Given the description of an element on the screen output the (x, y) to click on. 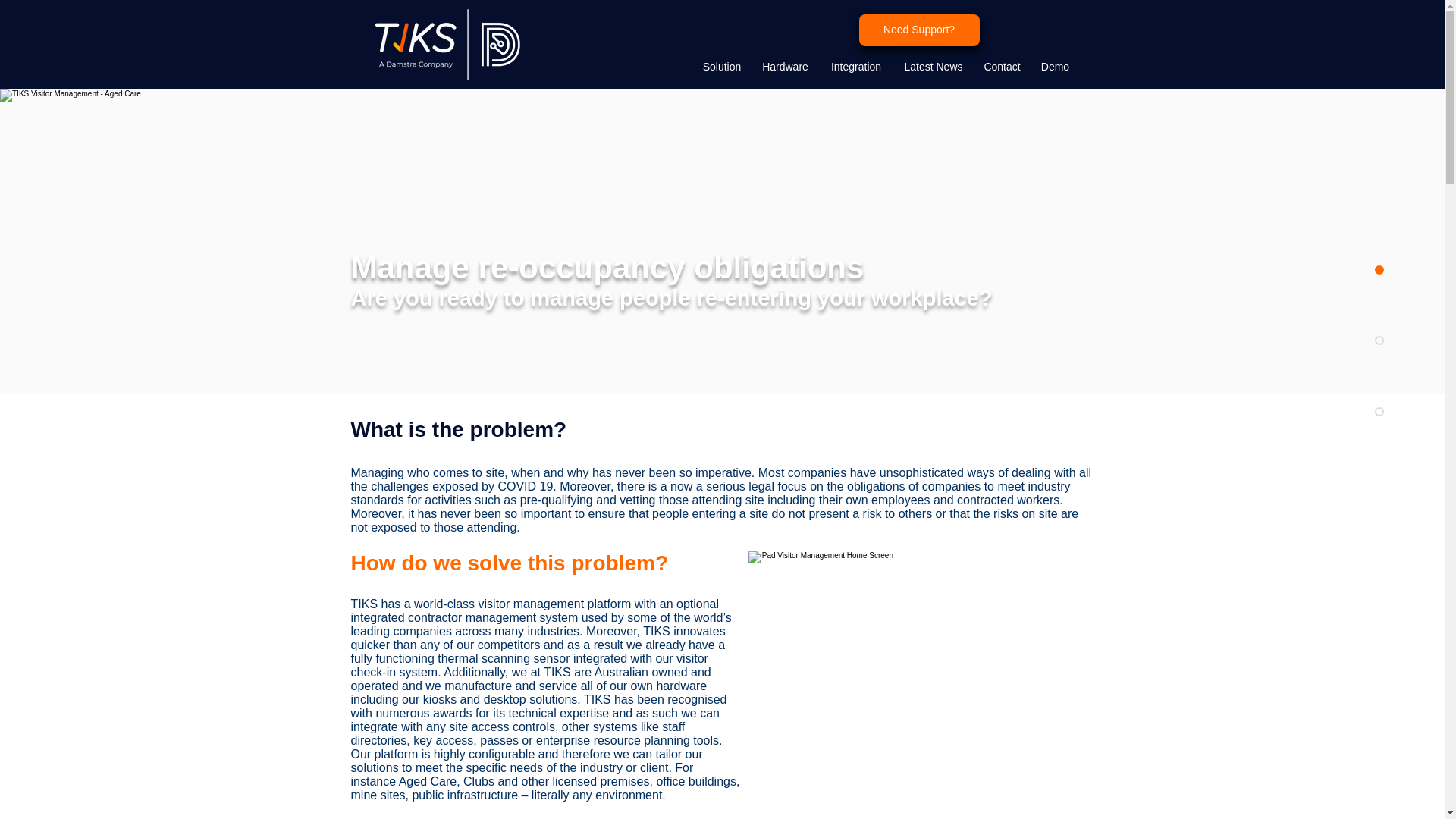
Integration (855, 66)
Demo (1055, 66)
Latest News (932, 66)
Hardware (785, 66)
Solution (721, 66)
Contact (1002, 66)
Need Support? (918, 29)
